Given the description of an element on the screen output the (x, y) to click on. 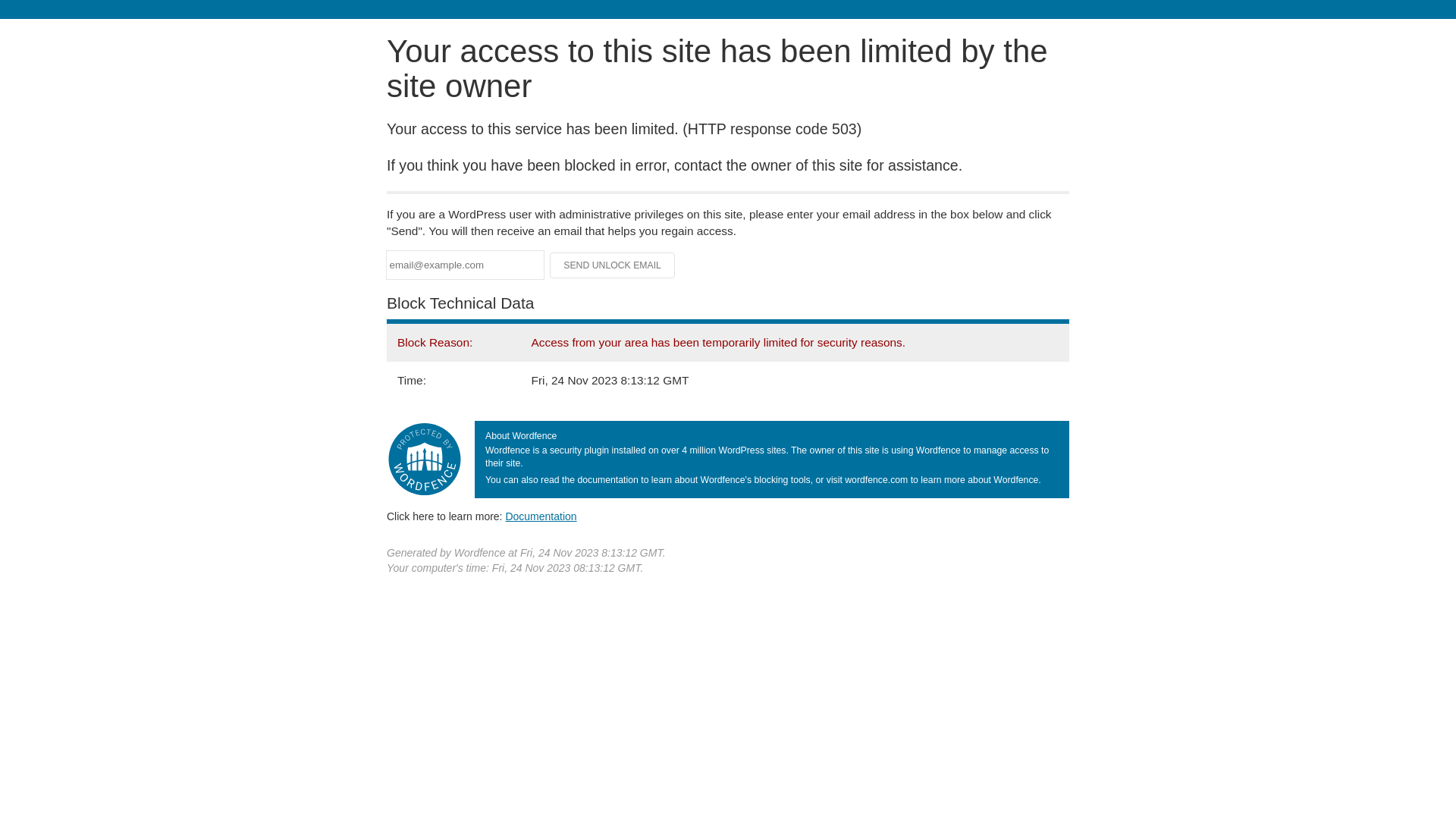
Documentation Element type: text (540, 516)
Send Unlock Email Element type: text (612, 265)
